Given the description of an element on the screen output the (x, y) to click on. 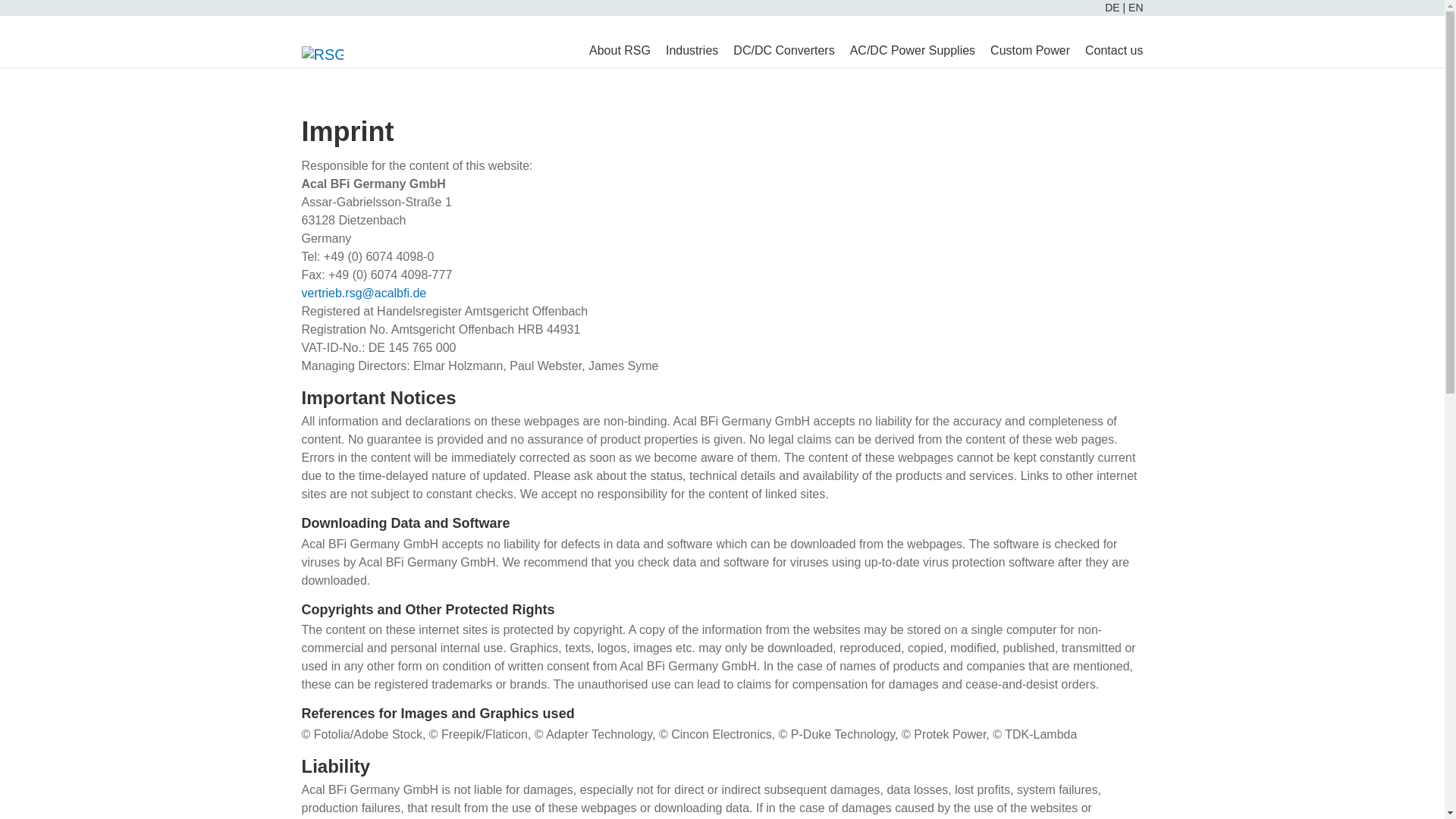
Industries (691, 50)
About RSG (619, 50)
DE (1113, 7)
